Given the description of an element on the screen output the (x, y) to click on. 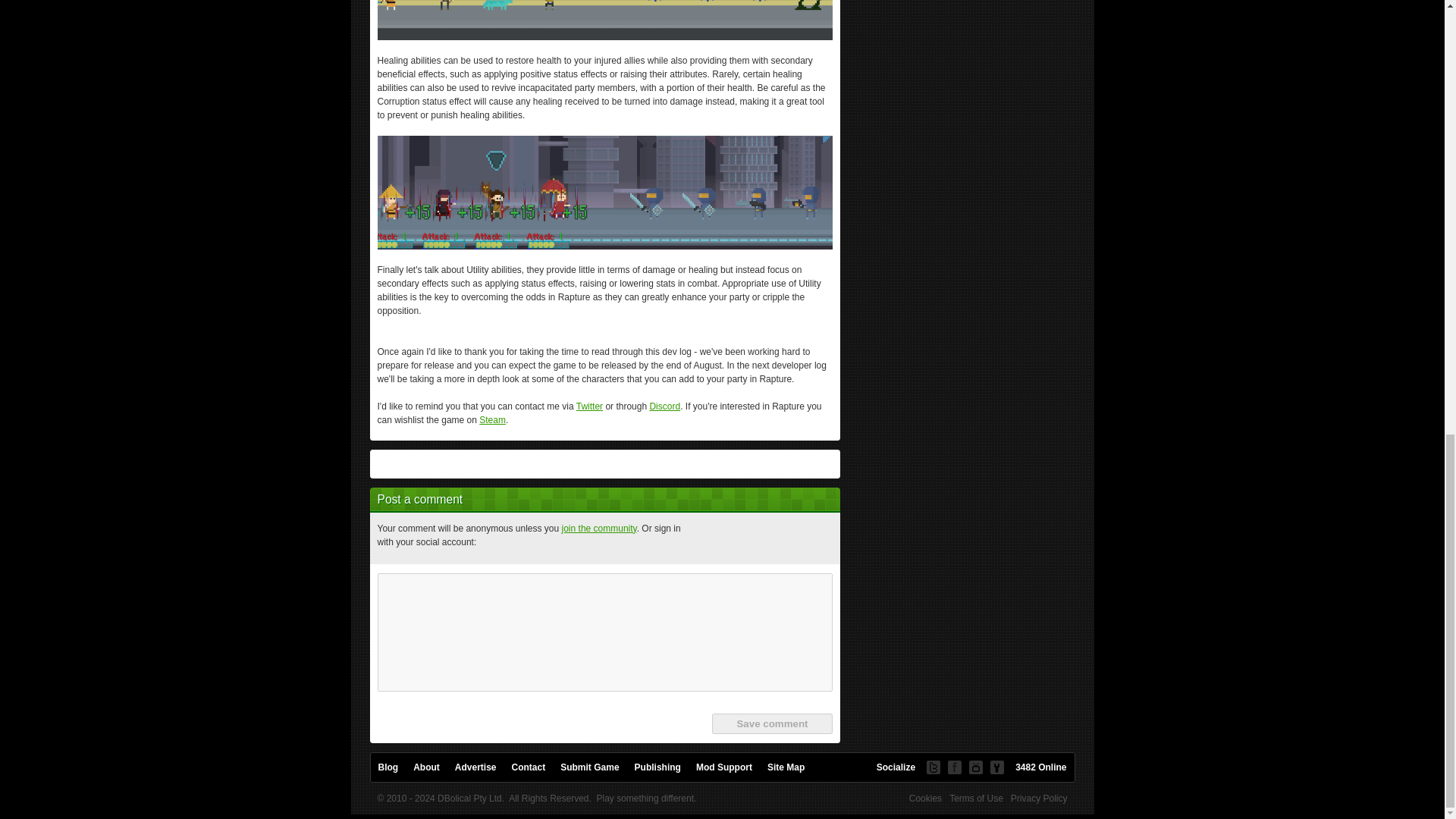
Click to connect via Twitter (744, 538)
Click to connect via Facebook (707, 538)
Click to connect via Google (780, 538)
Click to connect via Steam (816, 538)
Save comment (771, 723)
